Given the description of an element on the screen output the (x, y) to click on. 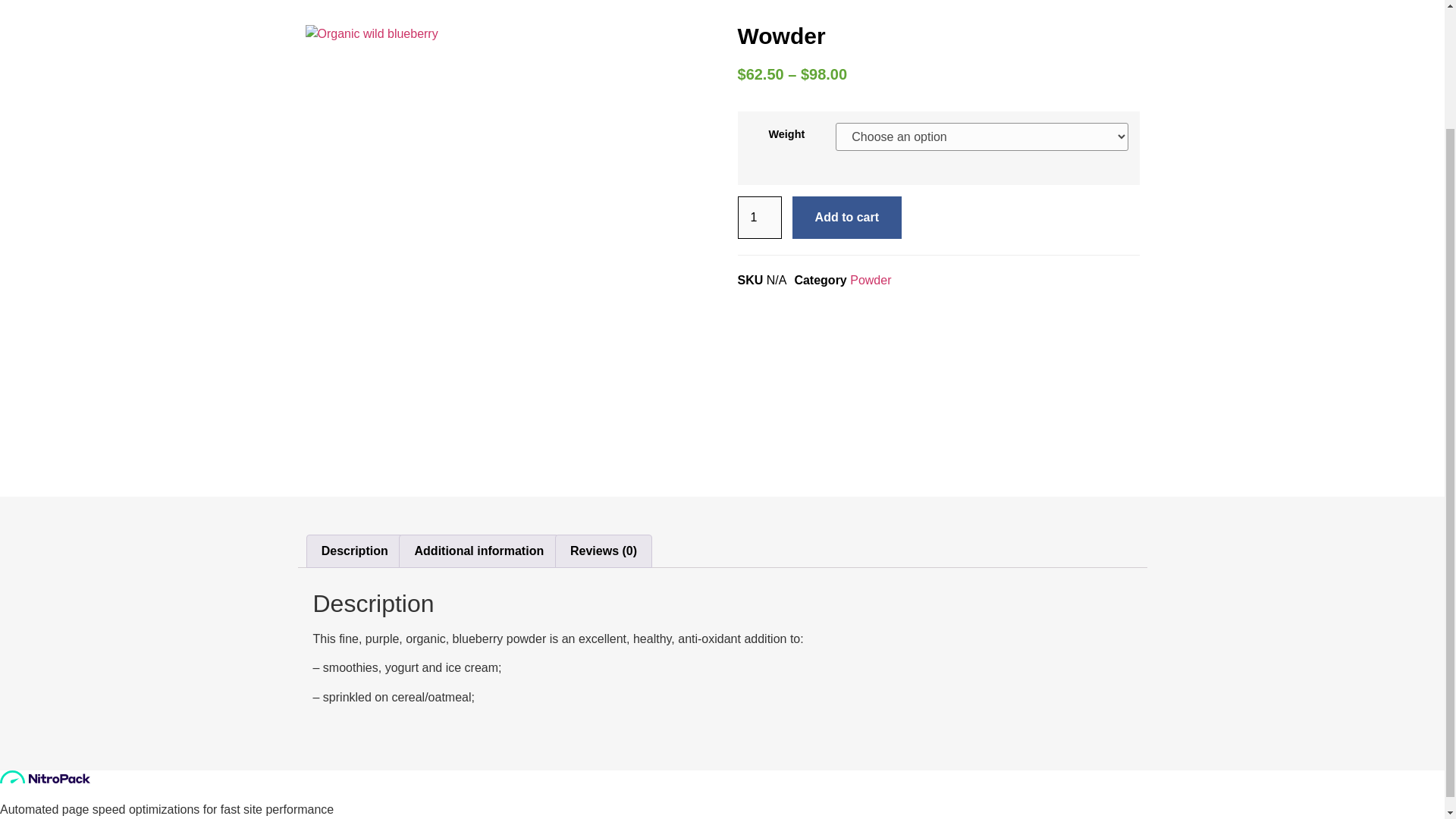
1 (758, 217)
